Given the description of an element on the screen output the (x, y) to click on. 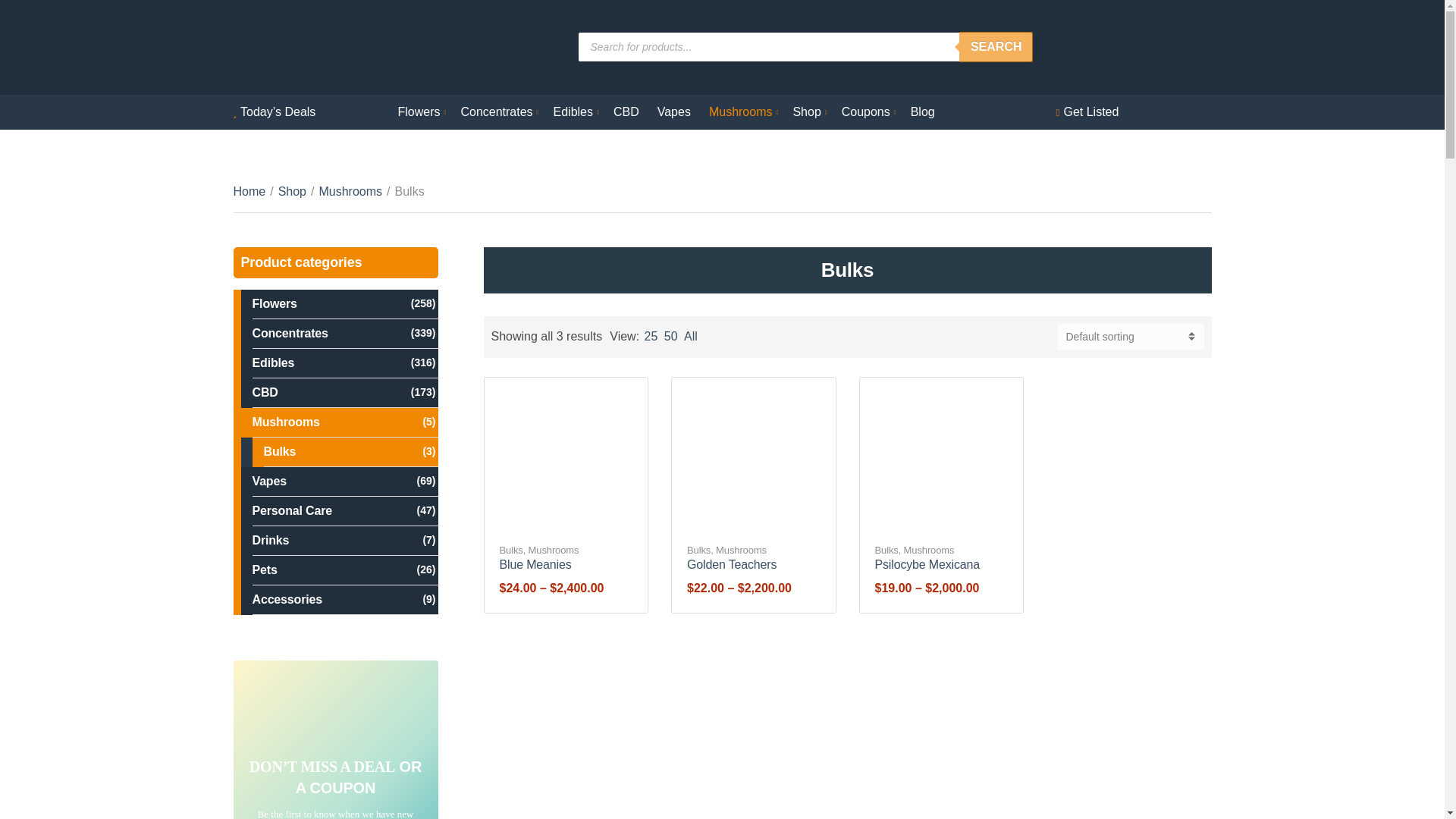
Flowers (419, 112)
Edibles (574, 112)
SEARCH (996, 46)
Concentrates (497, 112)
Vapes (674, 112)
Mushrooms (741, 112)
